Given the description of an element on the screen output the (x, y) to click on. 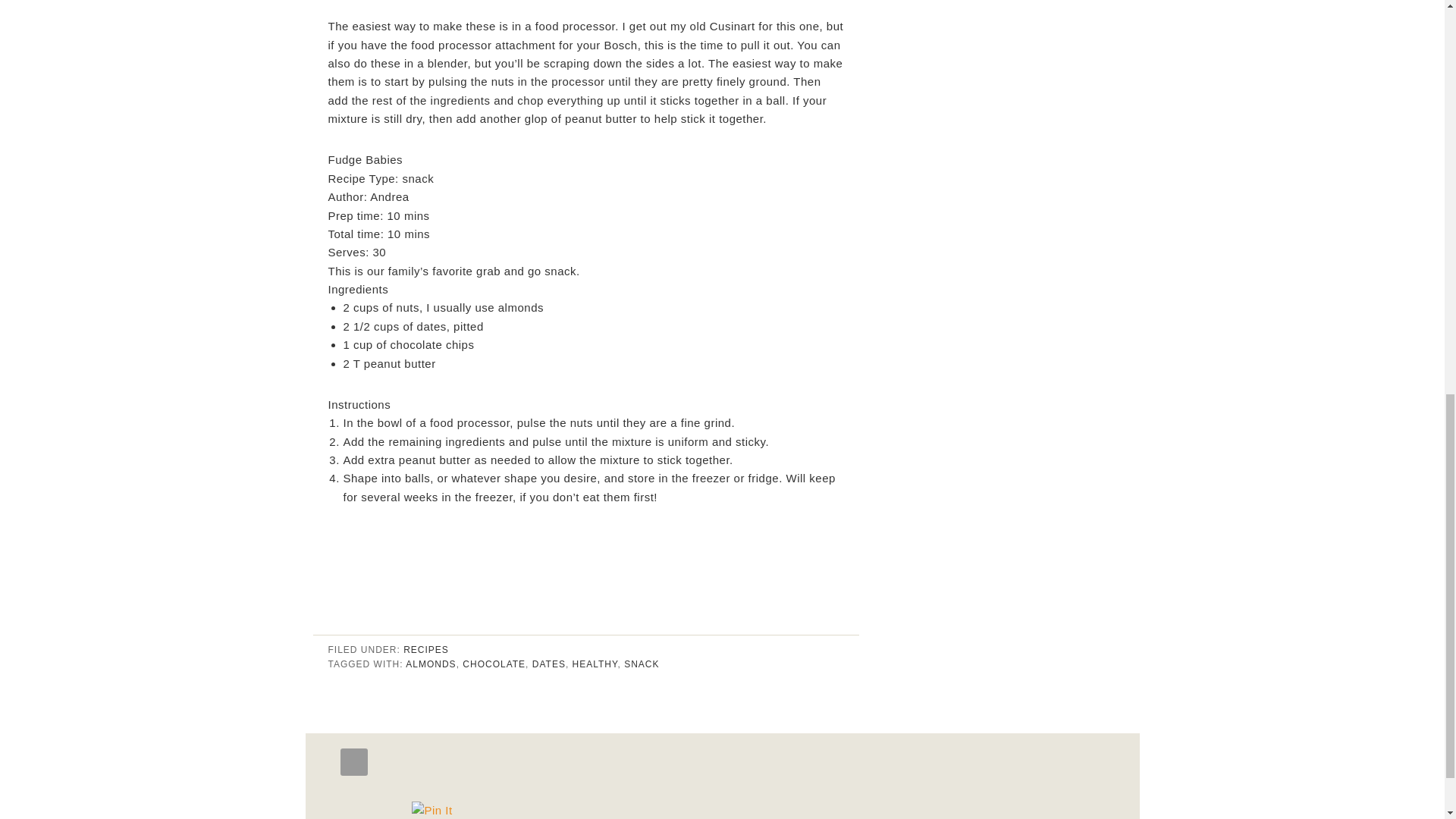
RECIPES (425, 649)
ALMONDS (430, 664)
SNACK (641, 664)
Pin It (431, 810)
DATES (549, 664)
HEALTHY (594, 664)
CHOCOLATE (494, 664)
